Given the description of an element on the screen output the (x, y) to click on. 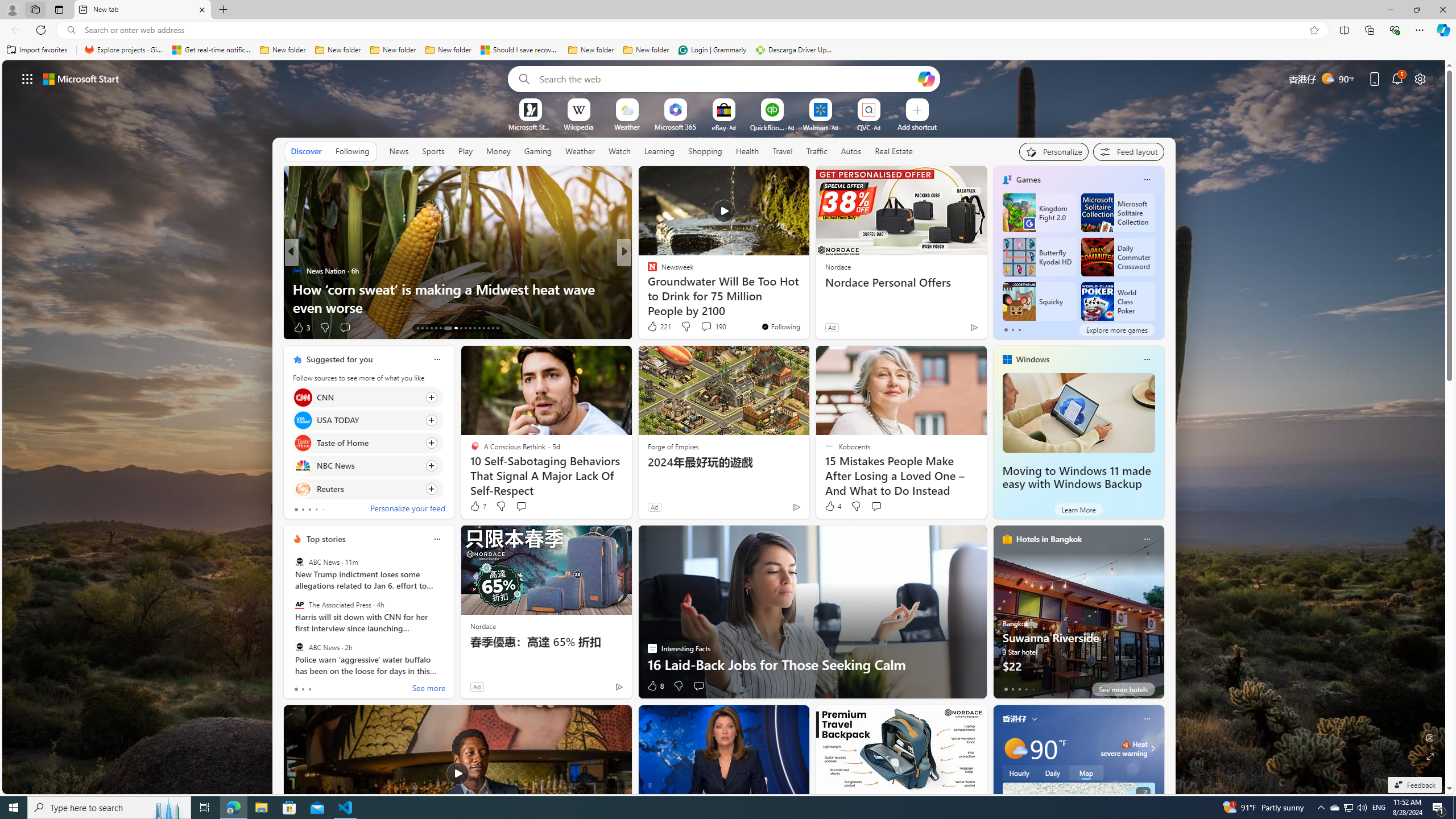
AutomationID: tab-14 (422, 328)
Personalize your feed (407, 509)
Start the conversation (698, 685)
Click to follow source Taste of Home (367, 442)
Sports (432, 151)
Watch (619, 151)
12 Like (652, 327)
View comments 6 Comment (698, 327)
Moving to Windows 11 made easy with Windows Backup (1077, 412)
tab-4 (1032, 689)
Map (1085, 772)
